Given the description of an element on the screen output the (x, y) to click on. 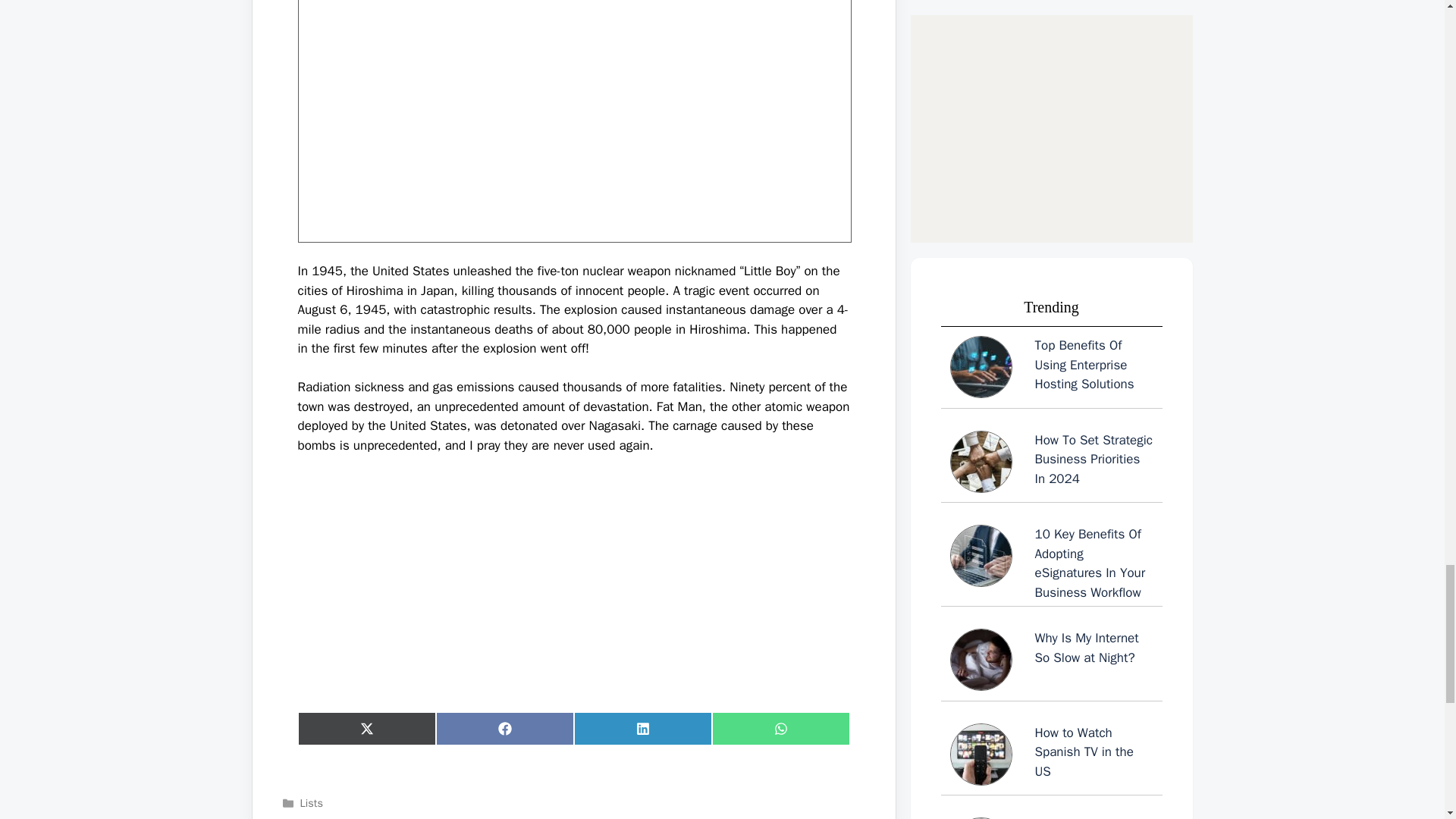
SHARE ON WHATSAPP (779, 728)
SHARE ON LINKEDIN (642, 728)
Lists (311, 802)
rPNt DA U ArfwZ (573, 121)
SHARE ON FACEBOOK (504, 728)
